Given the description of an element on the screen output the (x, y) to click on. 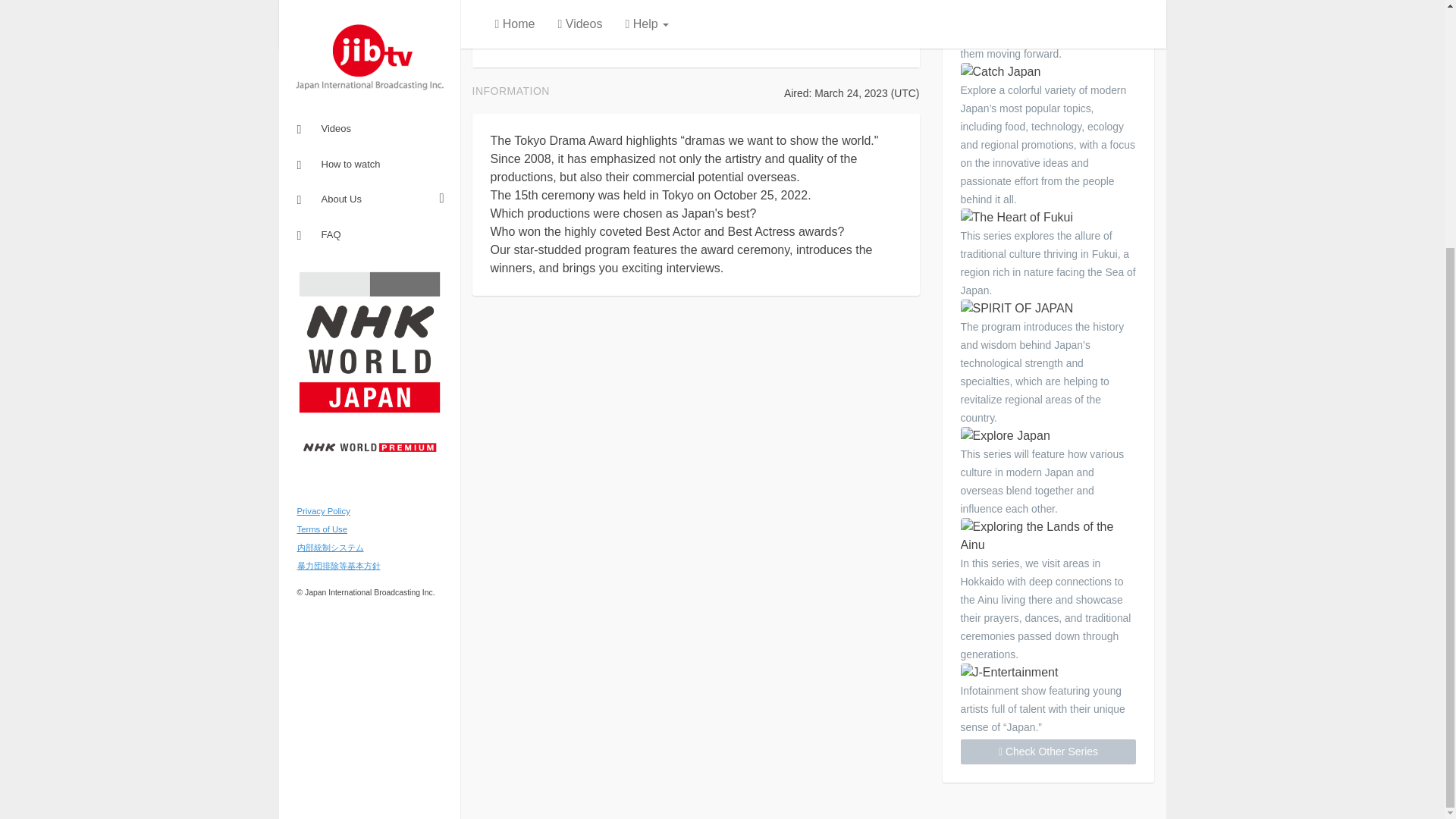
Check Other Series (1047, 751)
Terms of Use (322, 182)
Privacy Policy (323, 163)
